Given the description of an element on the screen output the (x, y) to click on. 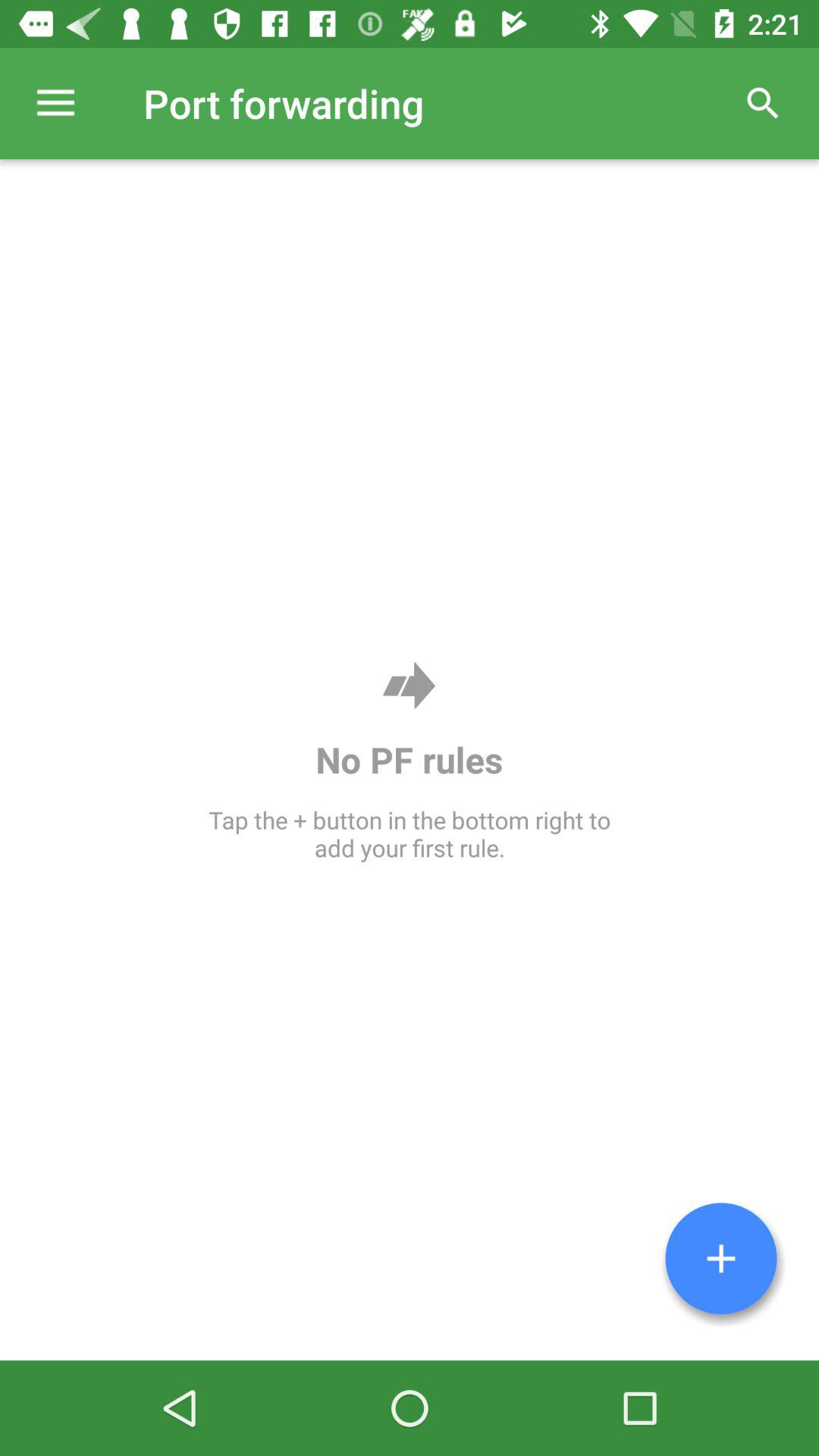
add rule (721, 1258)
